Given the description of an element on the screen output the (x, y) to click on. 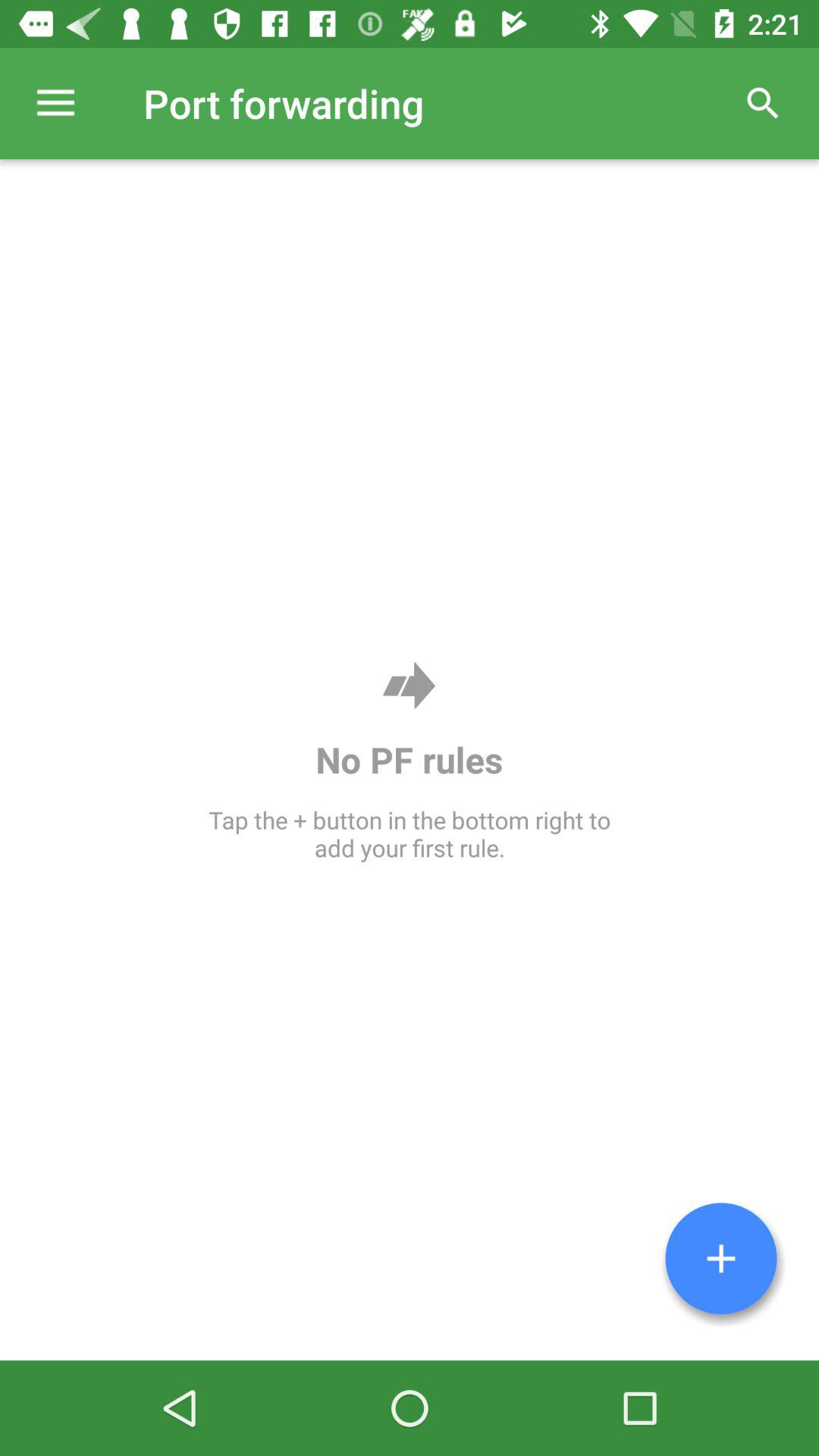
add rule (721, 1258)
